Given the description of an element on the screen output the (x, y) to click on. 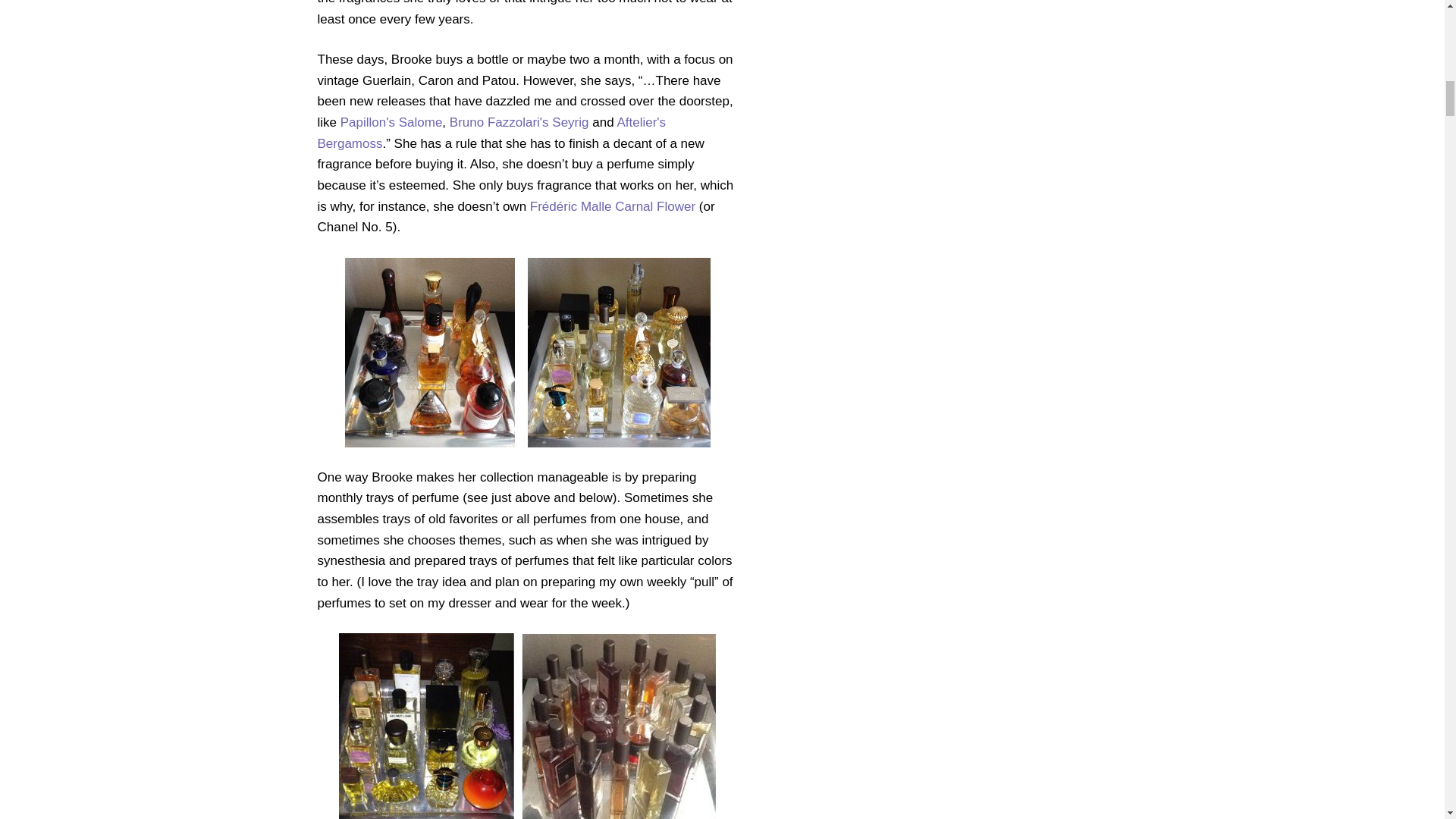
Bruno Fazzolari's Seyrig (519, 122)
Aftelier's Bergamoss (491, 132)
Papillon's Salome (391, 122)
